Given the description of an element on the screen output the (x, y) to click on. 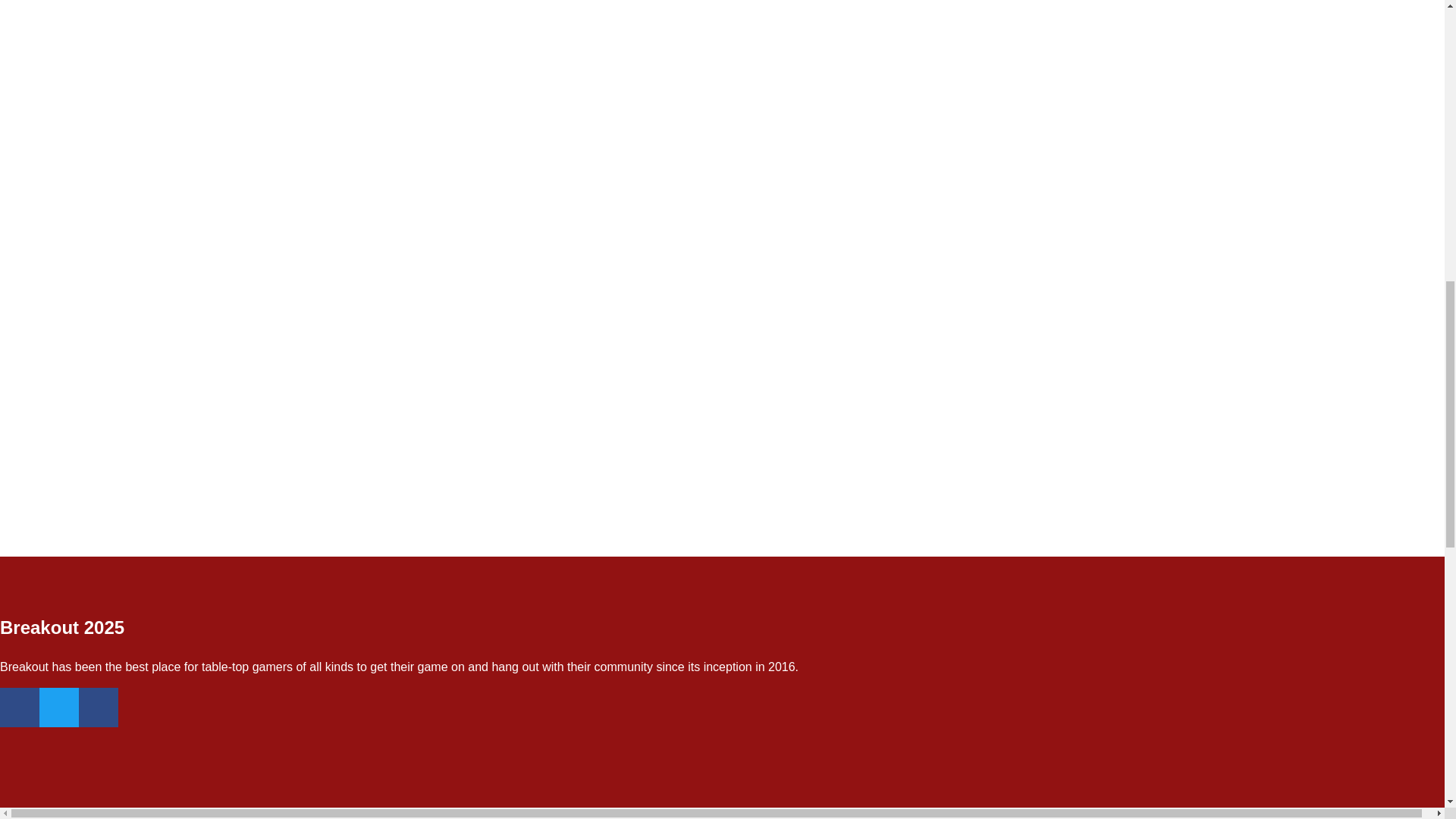
twitter (58, 707)
facebook (19, 707)
instagram (97, 707)
